Given the description of an element on the screen output the (x, y) to click on. 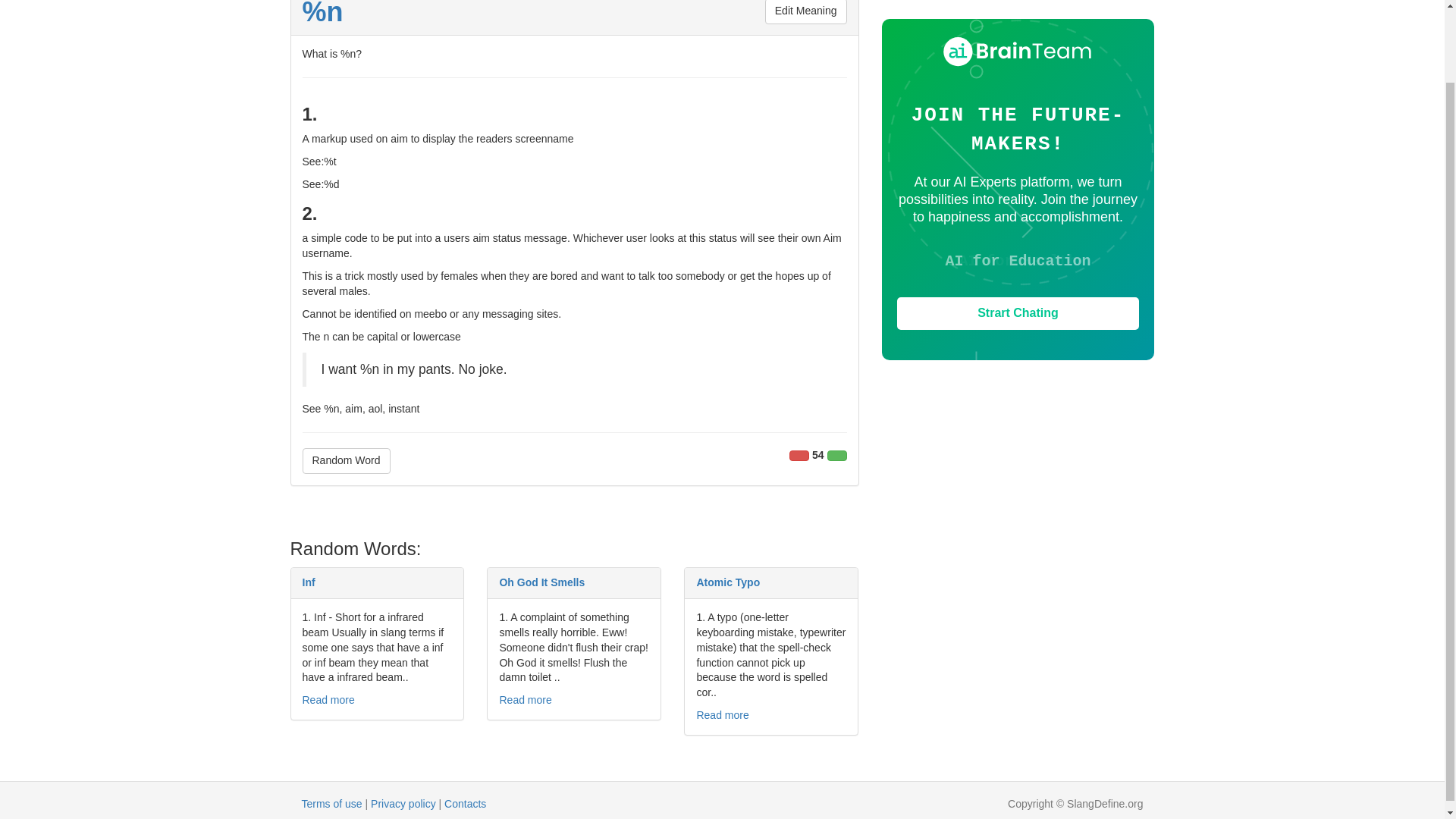
Oh God It Smells (542, 582)
Read more (327, 699)
Edit Meaning (806, 12)
Contacts (465, 803)
Read more (525, 699)
Inf (307, 582)
Atomic Typo (727, 582)
Privacy policy (403, 803)
Strart Chating (1017, 313)
Random Word (345, 460)
